Given the description of an element on the screen output the (x, y) to click on. 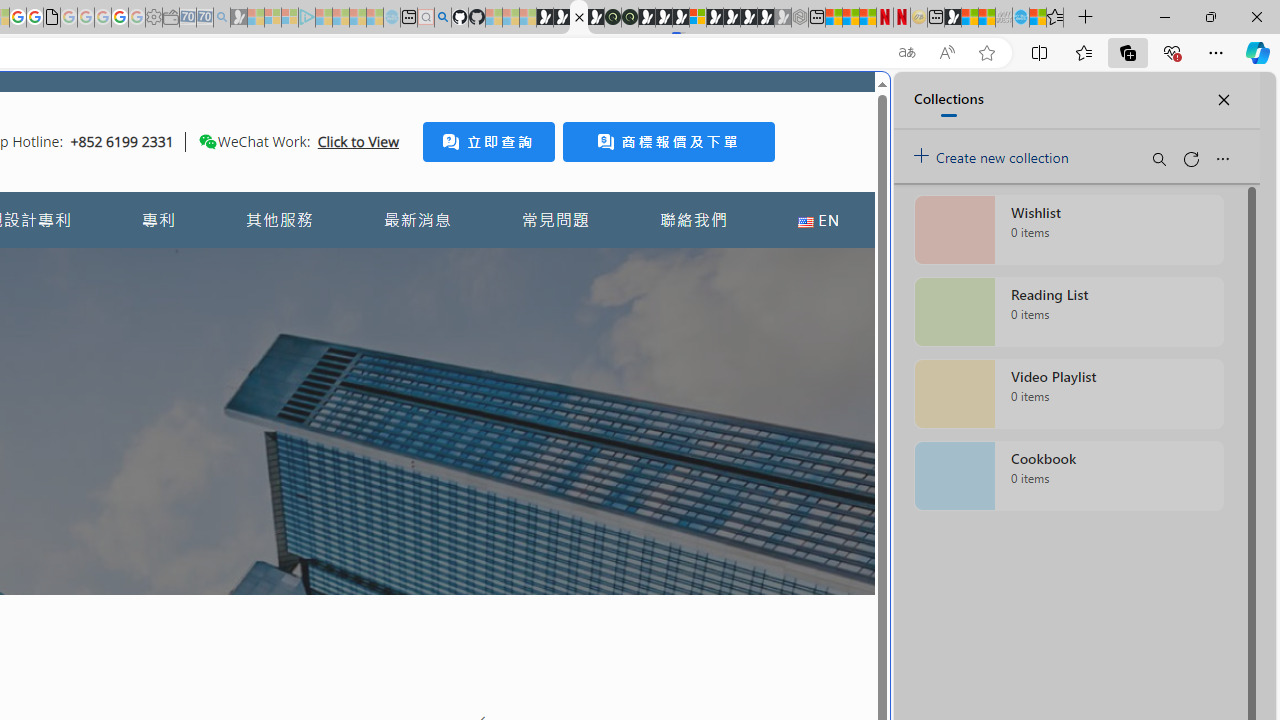
Search or enter web address (343, 191)
Sign in to your account (697, 17)
World - MSN (969, 17)
Show translate options (906, 53)
EN (818, 220)
